Given the description of an element on the screen output the (x, y) to click on. 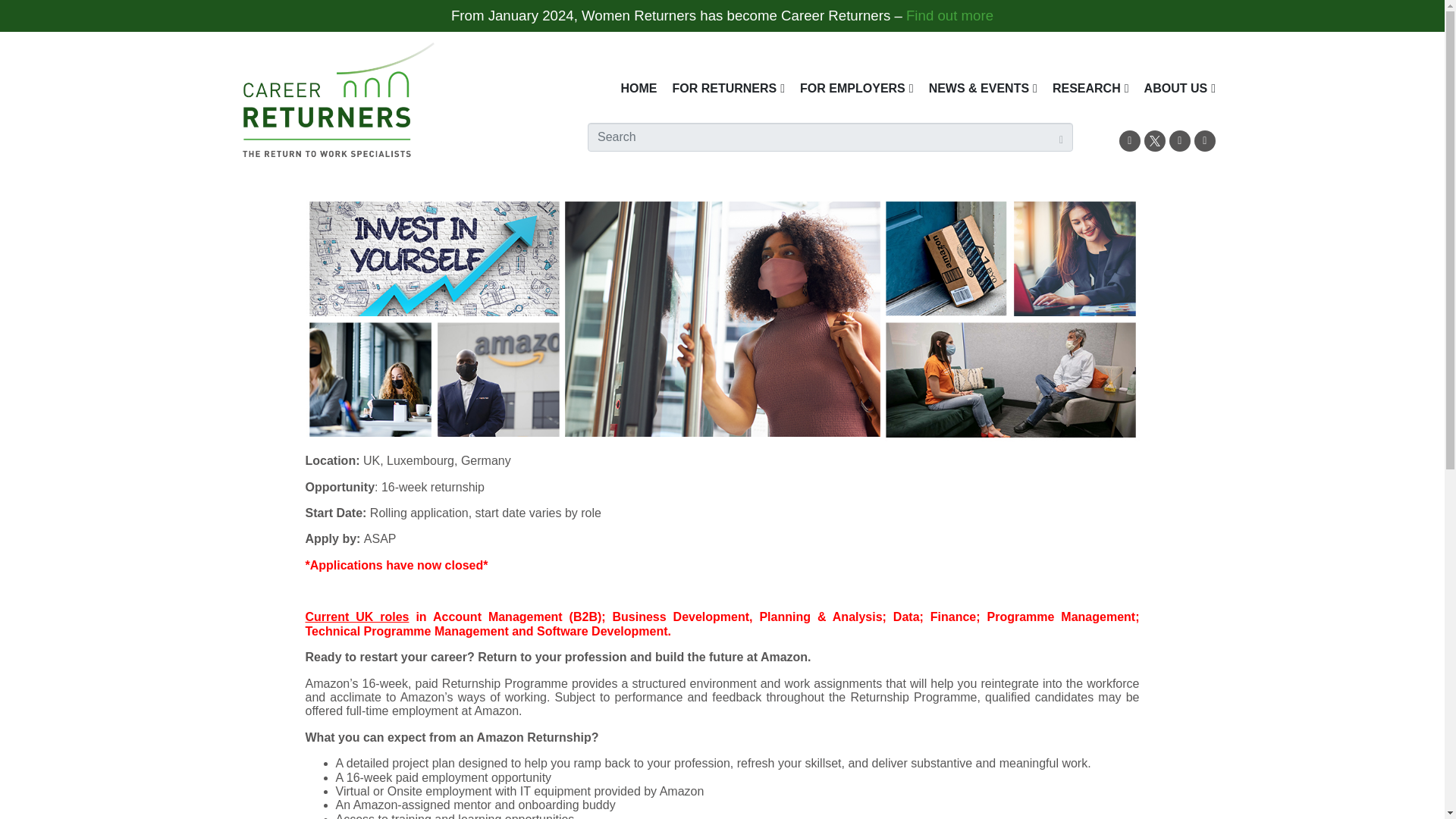
FOR RETURNERS (727, 88)
HOME (637, 88)
FOR EMPLOYERS (856, 88)
Find out more (948, 15)
